Given the description of an element on the screen output the (x, y) to click on. 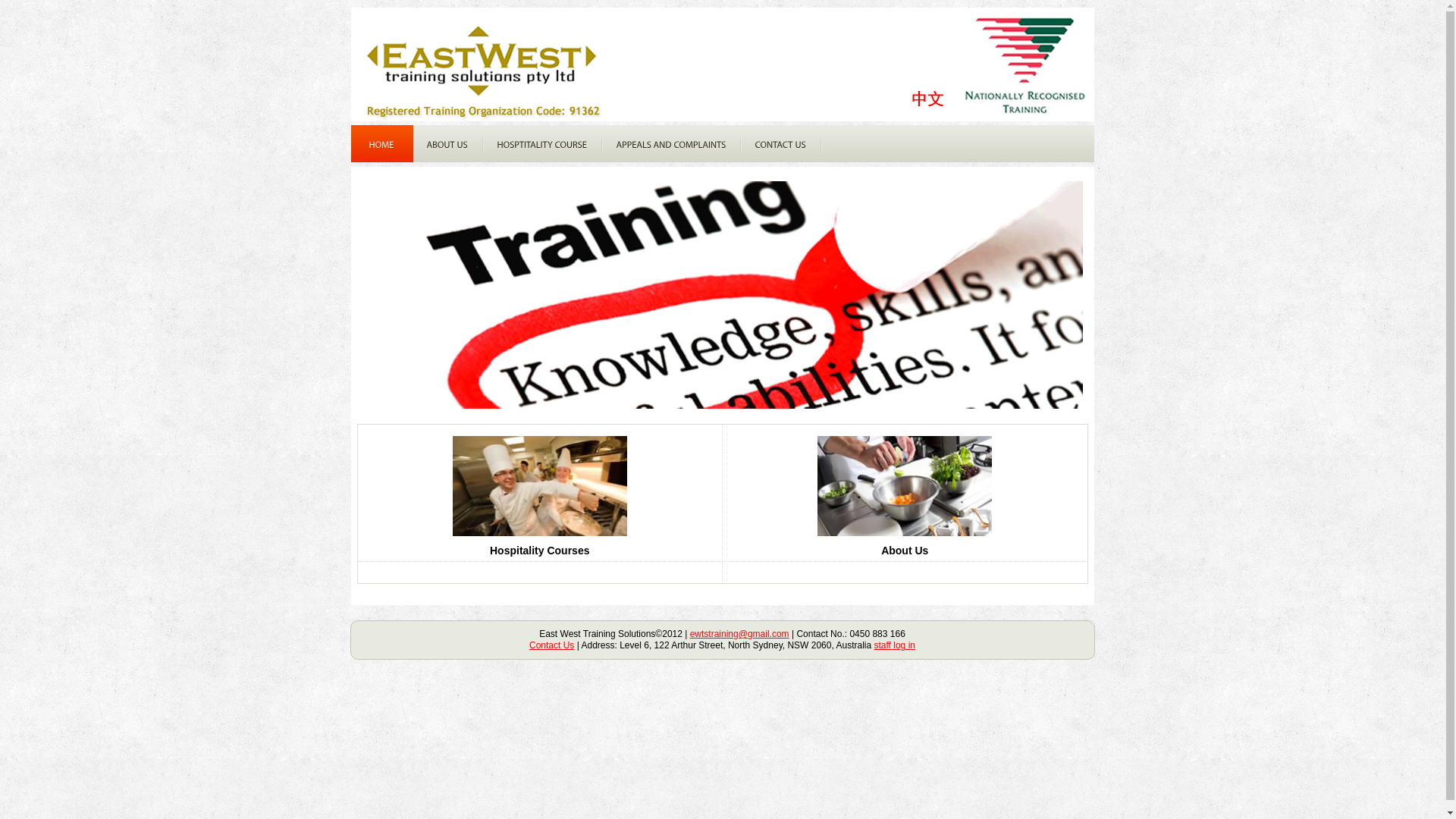
Contact Us Element type: text (551, 645)
ewtstraining@gmail.com Element type: text (739, 633)
About Us Element type: text (904, 550)
staff log in Element type: text (893, 645)
Hospitality Courses Element type: text (539, 550)
